Given the description of an element on the screen output the (x, y) to click on. 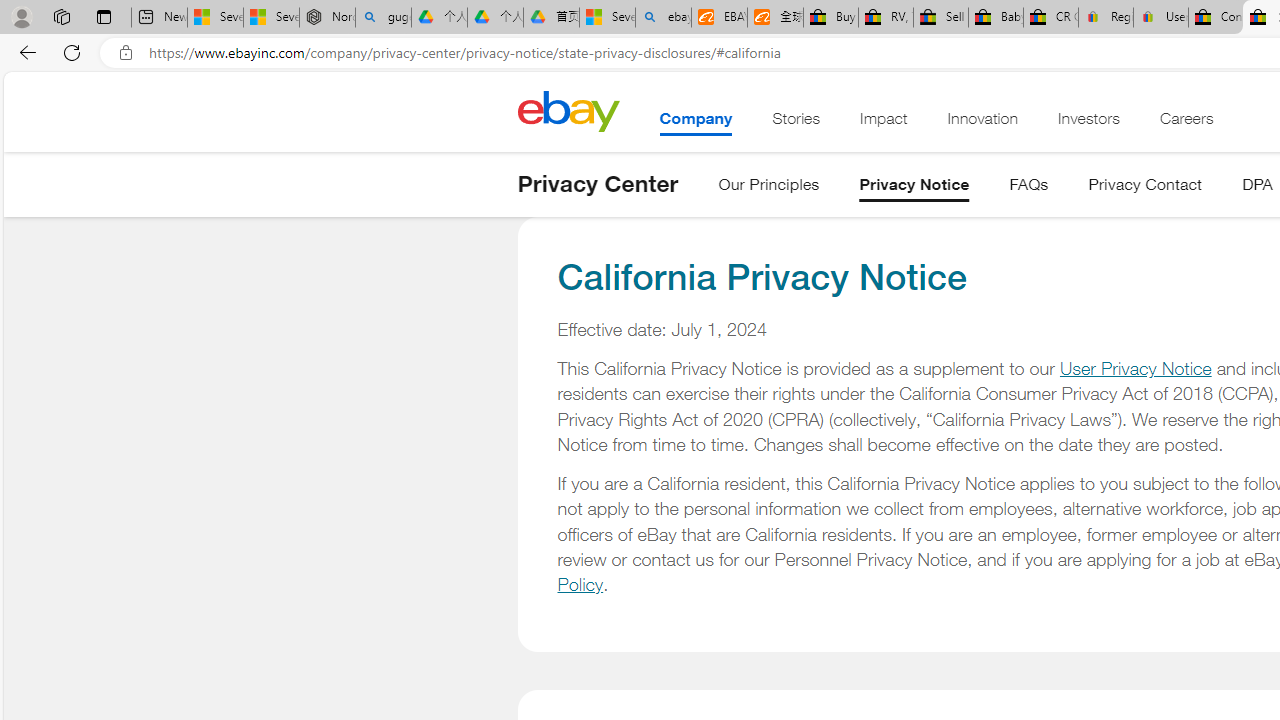
Consumer Health Data Privacy Policy - eBay Inc. (1215, 17)
